Given the description of an element on the screen output the (x, y) to click on. 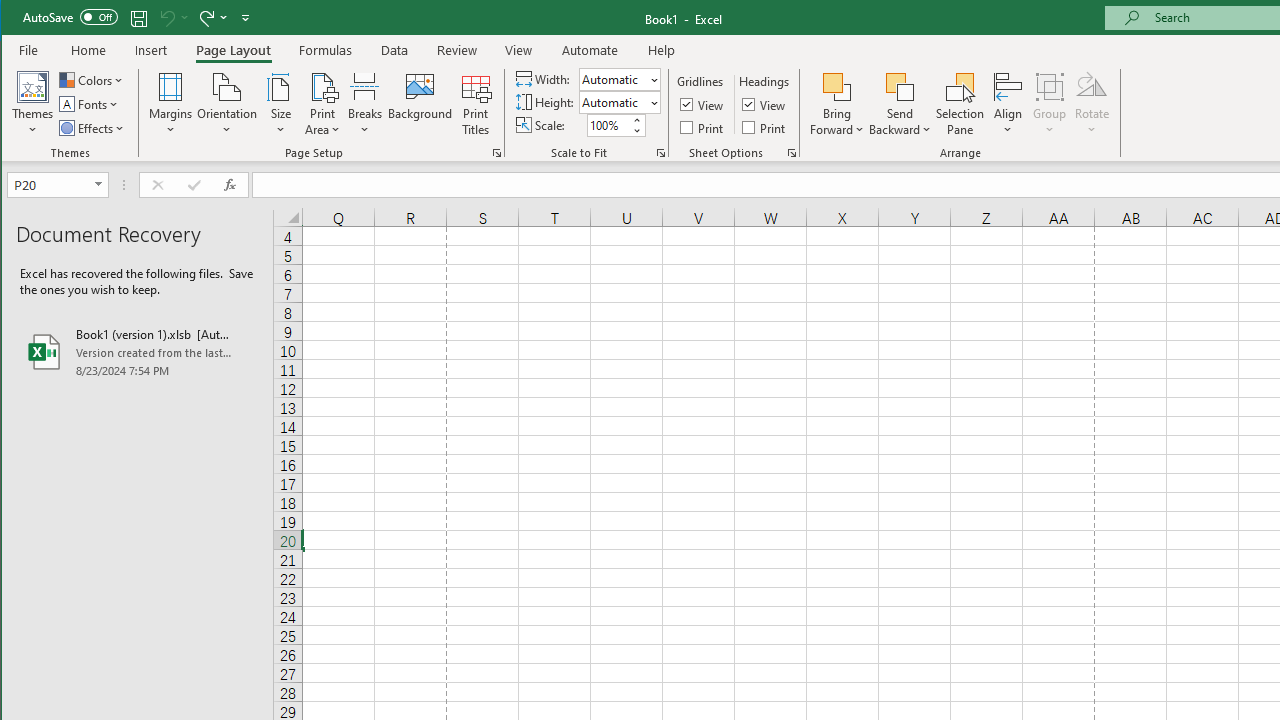
Automate (589, 50)
Open (99, 184)
Colors (93, 80)
Effects (93, 127)
Page Setup (660, 152)
Help (661, 50)
Breaks (365, 104)
Background... (420, 104)
Width (612, 79)
Rotate (1092, 104)
Print (765, 126)
Send Backward (900, 86)
Print Titles (475, 104)
